Given the description of an element on the screen output the (x, y) to click on. 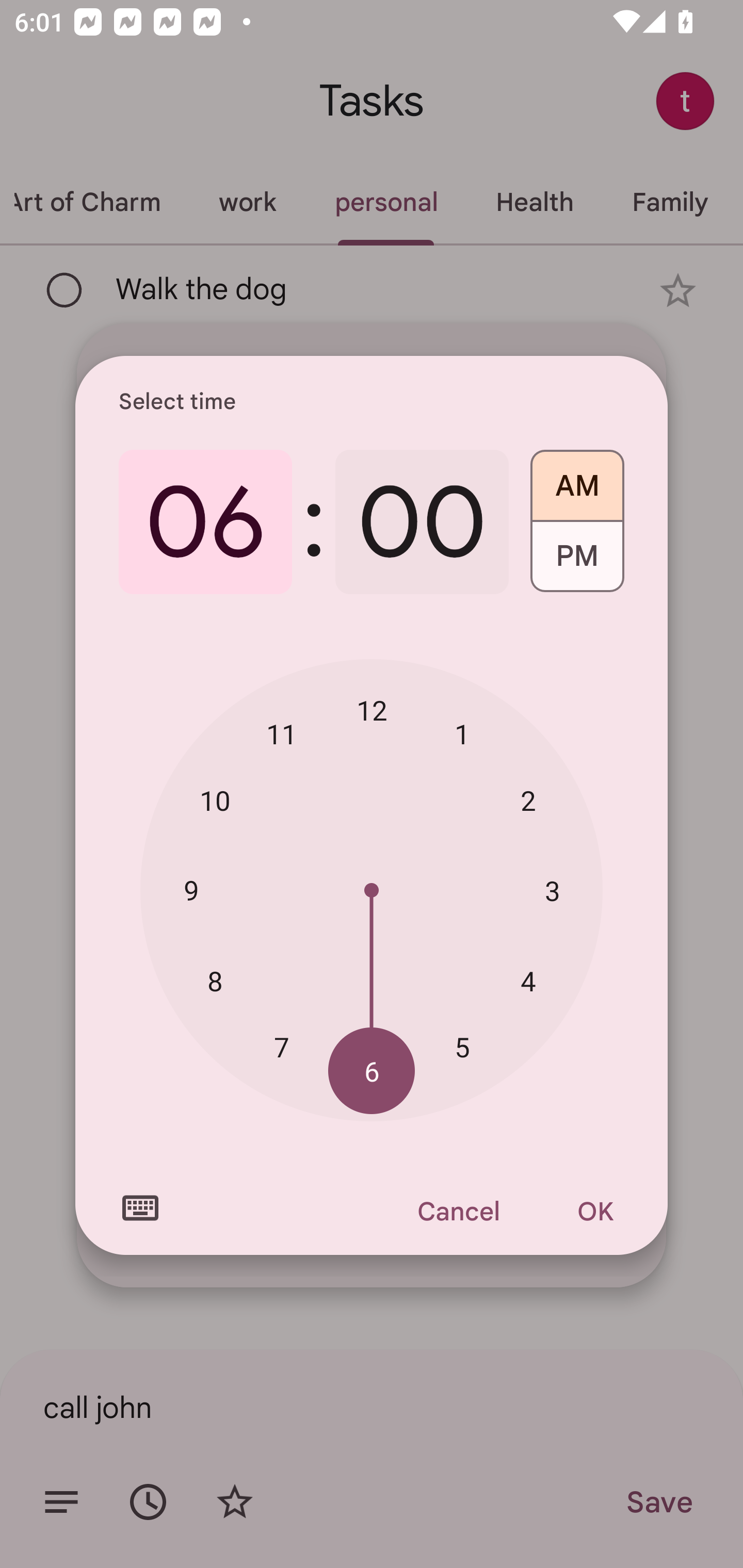
AM (577, 478)
06 6 o'clock (204, 522)
00 0 minutes (421, 522)
PM (577, 563)
12 12 o'clock (371, 710)
11 11 o'clock (281, 733)
1 1 o'clock (462, 733)
10 10 o'clock (214, 800)
2 2 o'clock (528, 800)
9 9 o'clock (190, 889)
3 3 o'clock (551, 890)
8 8 o'clock (214, 980)
4 4 o'clock (528, 980)
7 7 o'clock (281, 1046)
5 5 o'clock (462, 1046)
6 6 o'clock (371, 1071)
Switch to text input mode for the time input. (140, 1208)
Cancel (458, 1211)
OK (595, 1211)
